Given the description of an element on the screen output the (x, y) to click on. 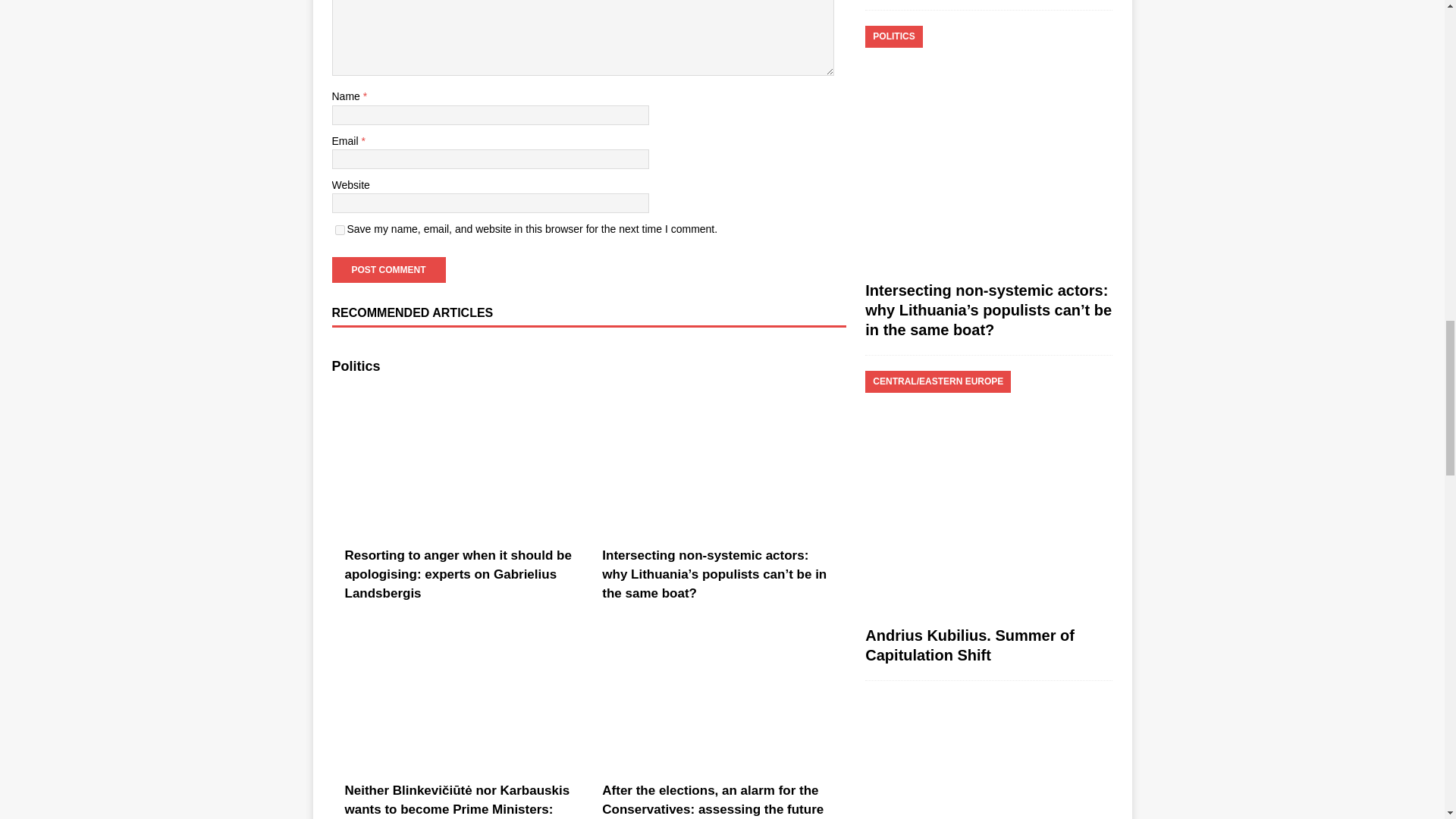
yes (339, 230)
Post Comment (388, 269)
